Given the description of an element on the screen output the (x, y) to click on. 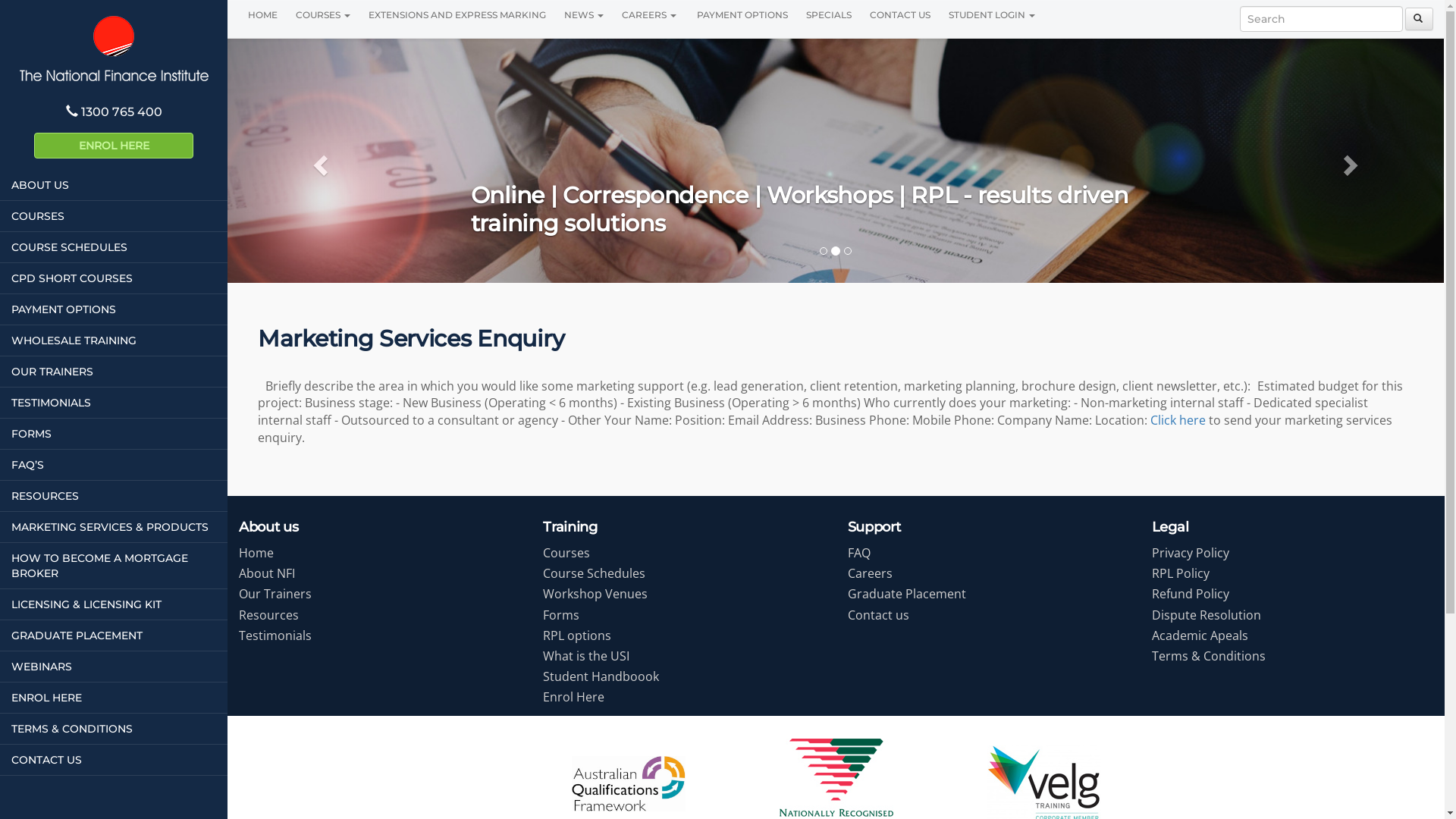
OUR TRAINERS Element type: text (113, 371)
CONTACT US Element type: text (113, 759)
Privacy Policy Element type: text (1190, 552)
Resources Element type: text (268, 614)
CPD SHORT COURSES Element type: text (113, 278)
COURSES Element type: text (322, 15)
SPECIALS Element type: text (828, 15)
Course Schedules Element type: text (593, 572)
Refund Policy Element type: text (1190, 593)
GRADUATE PLACEMENT Element type: text (113, 635)
  Element type: text (1419, 18)
Academic Apeals Element type: text (1199, 635)
Click here Element type: text (1177, 419)
PAYMENT OPTIONS Element type: text (113, 309)
MARKETING SERVICES & PRODUCTS Element type: text (113, 526)
NEWS Element type: text (583, 15)
RPL Policy Element type: text (1180, 572)
RPL options Element type: text (576, 635)
COURSE SCHEDULES Element type: text (113, 247)
Home Element type: text (255, 552)
Contact us Element type: text (878, 614)
TESTIMONIALS Element type: text (113, 402)
Workshop Venues Element type: text (594, 593)
FORMS Element type: text (113, 433)
Terms & Conditions Element type: text (1208, 655)
Our Trainers Element type: text (274, 593)
LICENSING & LICENSING KIT Element type: text (113, 604)
What is the USI Element type: text (585, 655)
STUDENT LOGIN Element type: text (991, 15)
Previous Element type: text (318, 160)
EXTENSIONS AND EXPRESS MARKING Element type: text (457, 15)
HOW TO BECOME A MORTGAGE BROKER Element type: text (113, 565)
WEBINARS Element type: text (113, 666)
FAQ Element type: text (858, 552)
About NFI Element type: text (266, 572)
ABOUT US Element type: text (113, 184)
ENROL HERE Element type: text (113, 145)
Testimonials Element type: text (274, 635)
 PAYMENT OPTIONS Element type: text (741, 15)
Careers Element type: text (869, 572)
Courses Element type: text (565, 552)
Student Handboook Element type: text (600, 676)
WHOLESALE TRAINING Element type: text (113, 340)
CAREERS Element type: text (648, 15)
Next Element type: text (1352, 160)
Forms Element type: text (560, 614)
COURSES Element type: text (113, 215)
HOME Element type: text (262, 15)
Dispute Resolution Element type: text (1206, 614)
TERMS & CONDITIONS Element type: text (113, 728)
Graduate Placement Element type: text (906, 593)
Enrol Here Element type: text (573, 696)
CONTACT US Element type: text (899, 15)
THE NATIONAL FINANCE INSTITUTE Element type: text (113, 48)
ENROL HERE Element type: text (113, 697)
RESOURCES Element type: text (113, 495)
